Given the description of an element on the screen output the (x, y) to click on. 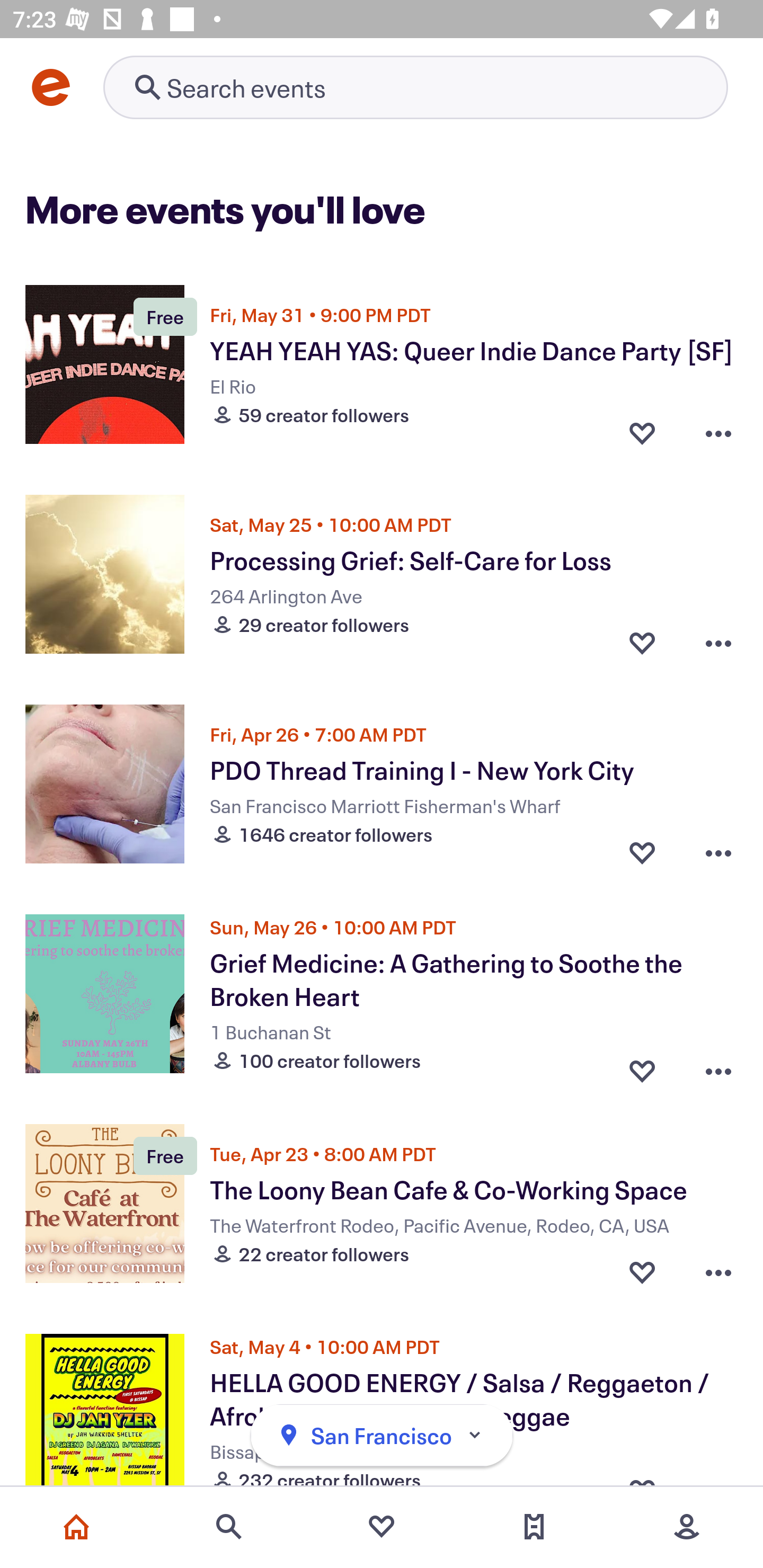
Retry's image Search events (415, 86)
Favorite button (642, 431)
Overflow menu button (718, 431)
Favorite button (642, 641)
Overflow menu button (718, 641)
Favorite button (642, 852)
Overflow menu button (718, 852)
Favorite button (642, 1066)
Overflow menu button (718, 1066)
Favorite button (642, 1271)
Overflow menu button (718, 1271)
San Francisco (381, 1435)
Home (76, 1526)
Search events (228, 1526)
Favorites (381, 1526)
Tickets (533, 1526)
More (686, 1526)
